Given the description of an element on the screen output the (x, y) to click on. 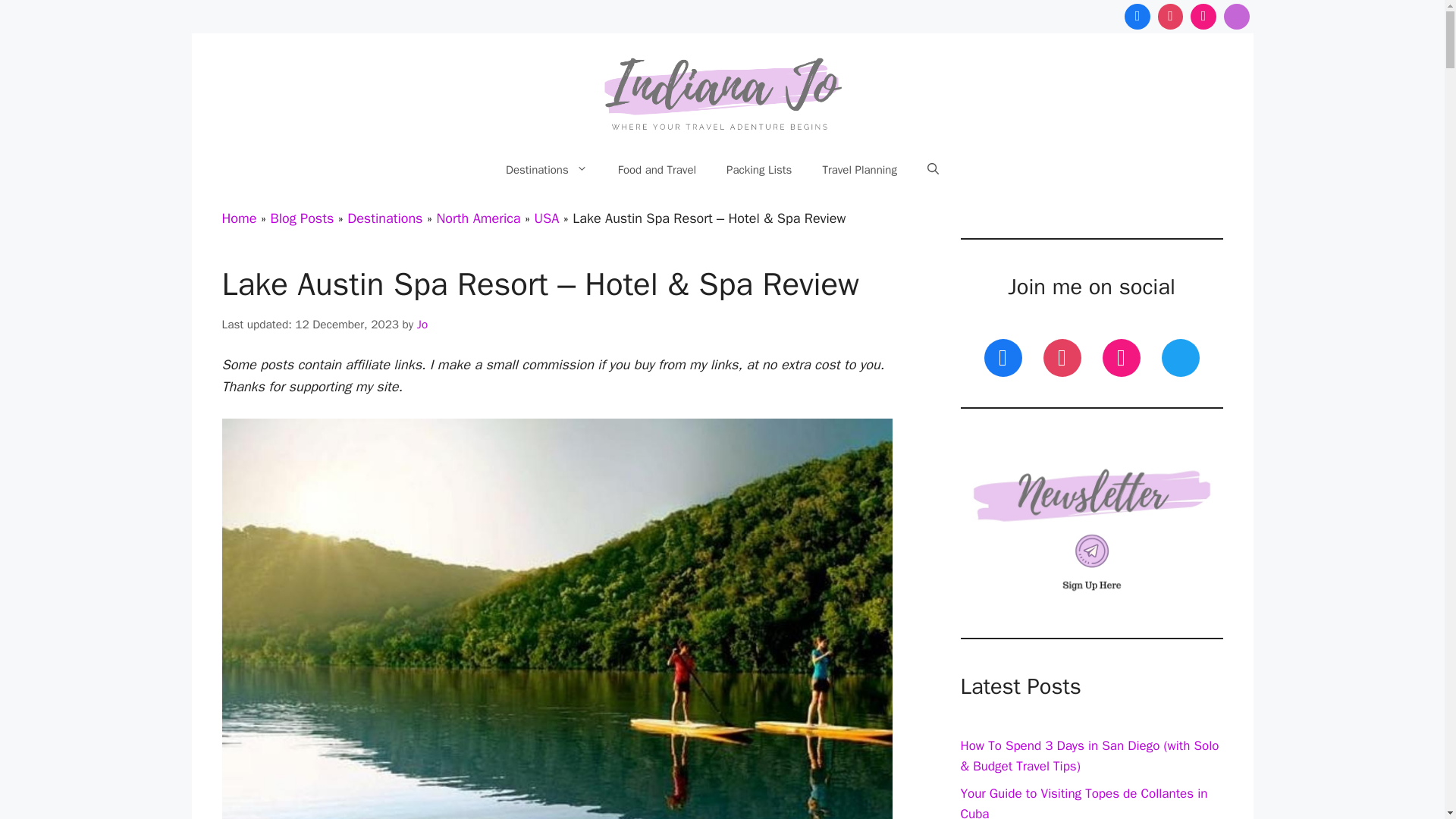
Pinterest (1171, 16)
Instagram (1203, 16)
Destinations (546, 169)
Telegram (1236, 16)
Facebook (1137, 16)
